Given the description of an element on the screen output the (x, y) to click on. 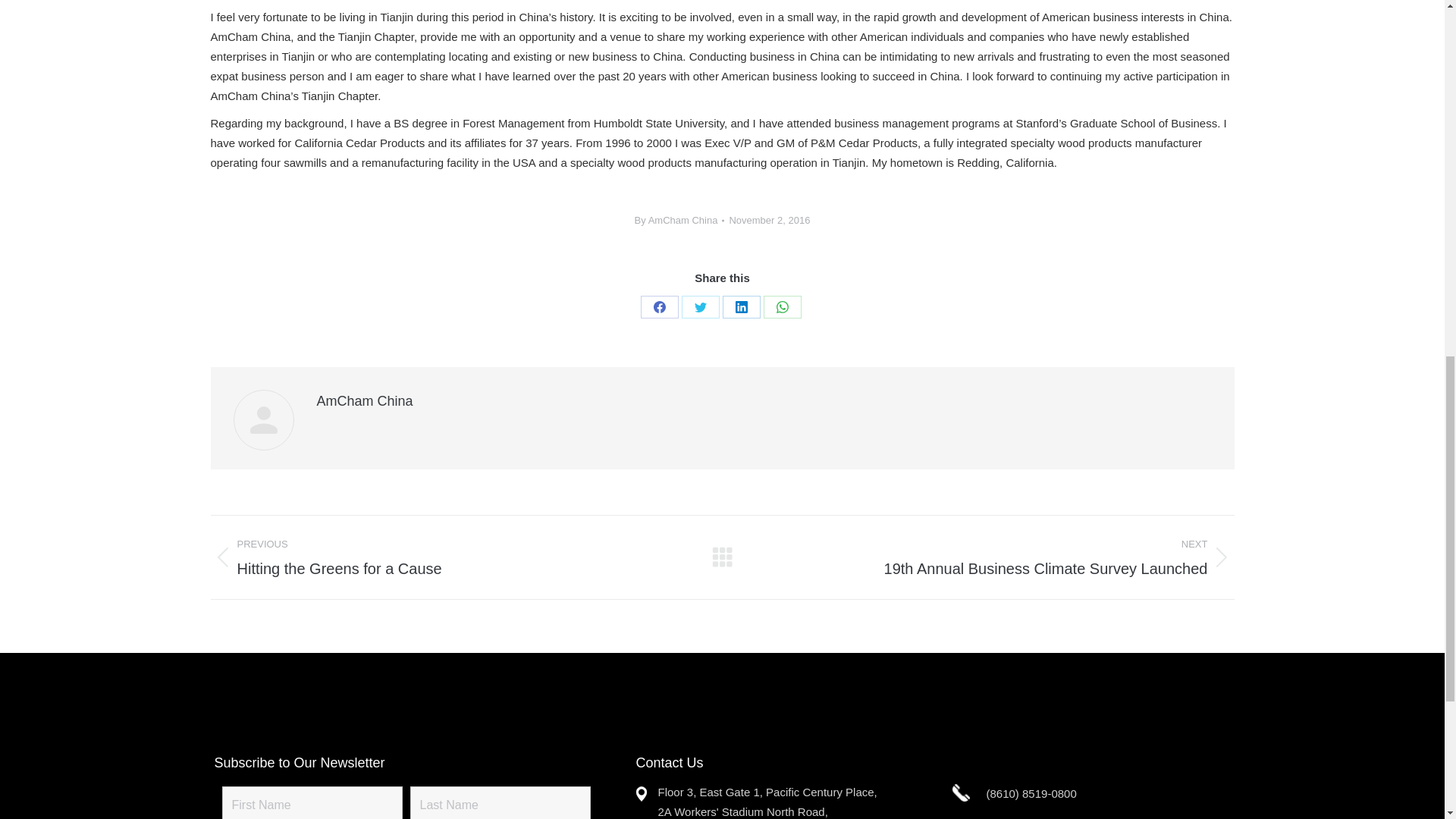
View all posts by AmCham China (679, 220)
4:00 pm (769, 220)
WhatsApp (781, 306)
Twitter (700, 306)
LinkedIn (741, 306)
Facebook (659, 306)
